Given the description of an element on the screen output the (x, y) to click on. 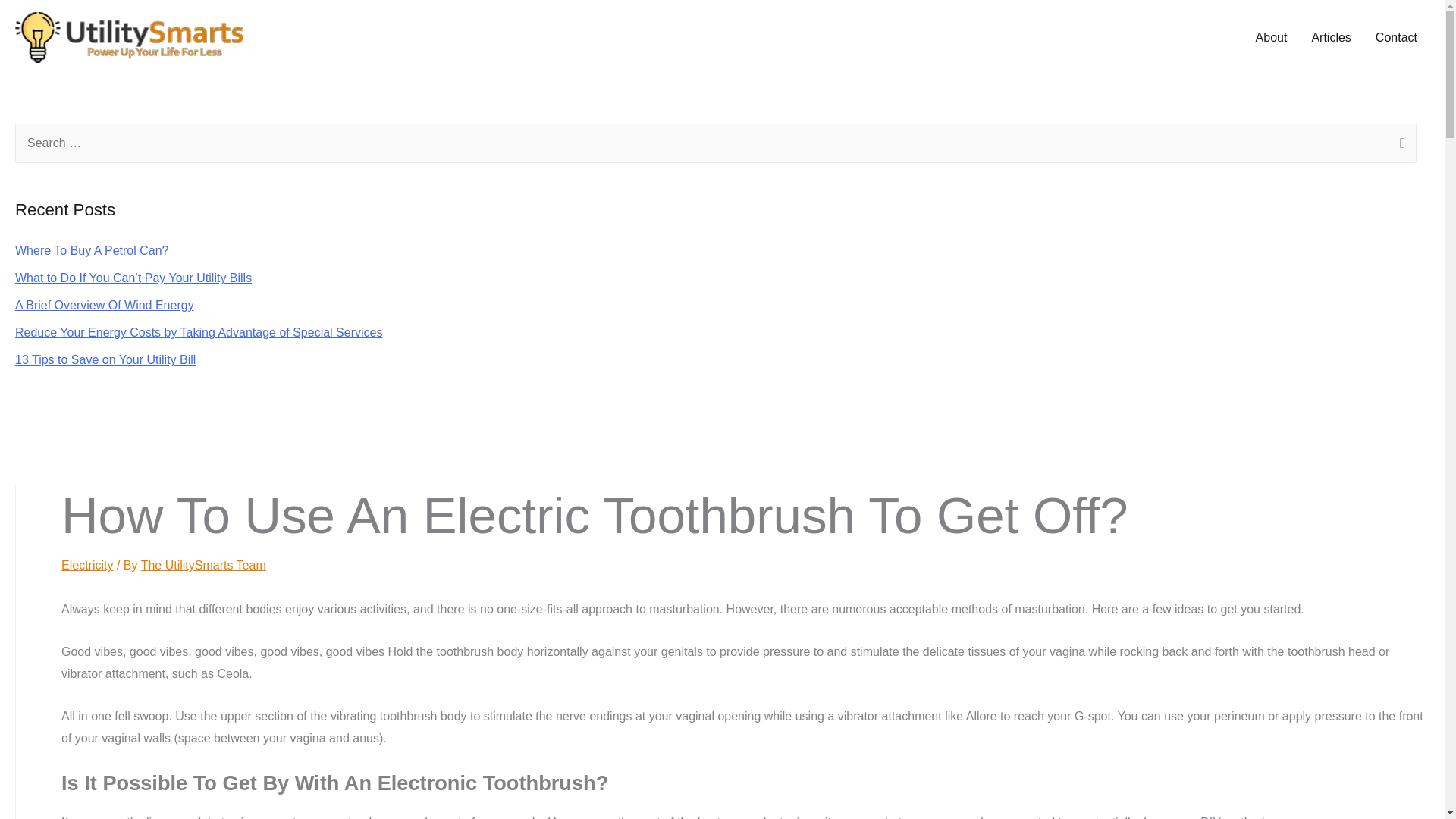
13 Tips to Save on Your Utility Bill (104, 359)
The UtilitySmarts Team (203, 564)
Electricity (87, 564)
View all posts by The UtilitySmarts Team (203, 564)
A Brief Overview Of Wind Energy (103, 305)
Where To Buy A Petrol Can? (91, 250)
Articles (1330, 36)
Contact (1395, 36)
About (1271, 36)
